Given the description of an element on the screen output the (x, y) to click on. 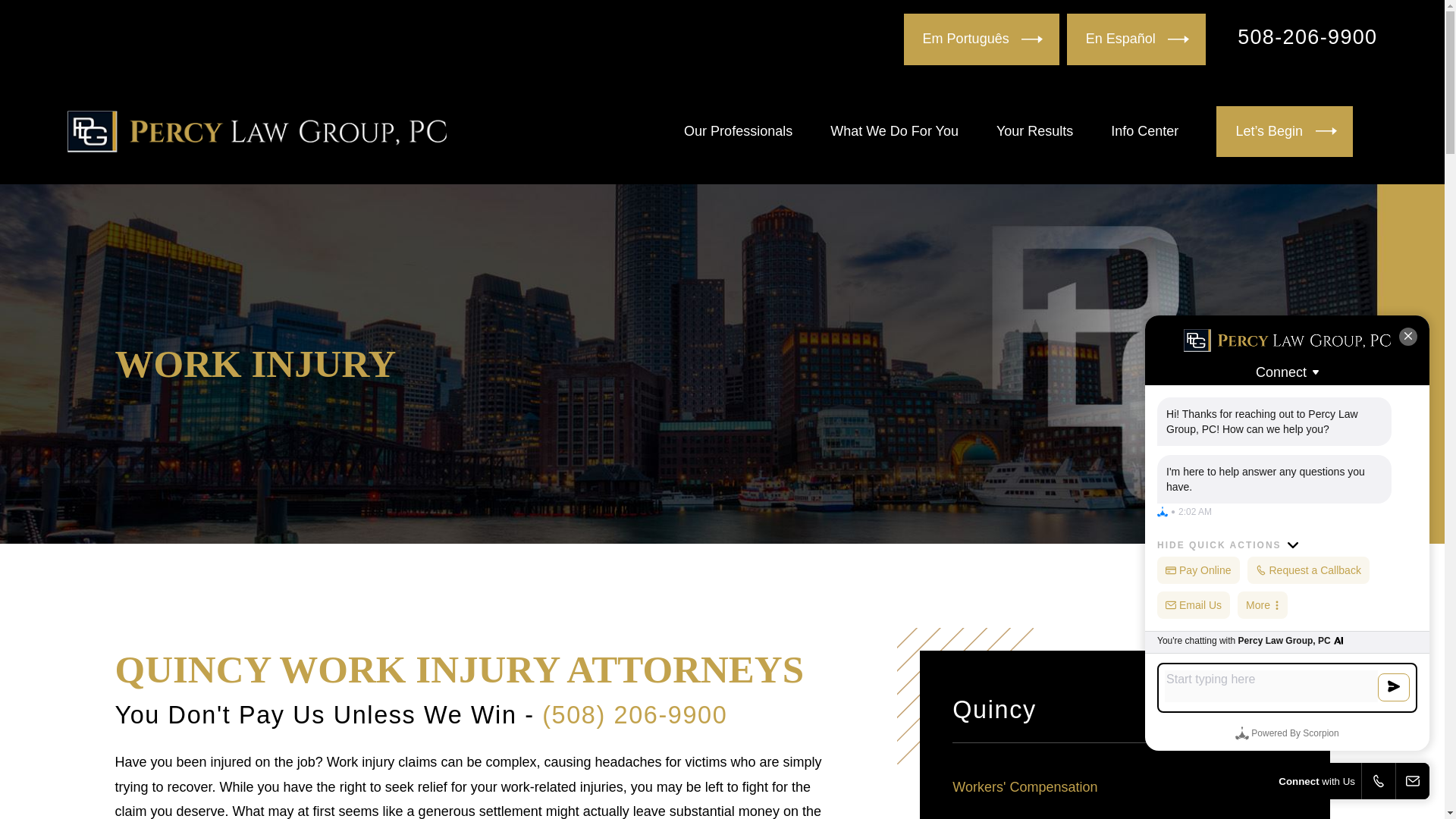
Our Professionals (738, 131)
Home (255, 131)
Info Center (1143, 131)
508-206-9900 (1307, 36)
Open child menu of Workers' Compensation (1289, 787)
Your Results (1034, 131)
What We Do For You (893, 131)
